Given the description of an element on the screen output the (x, y) to click on. 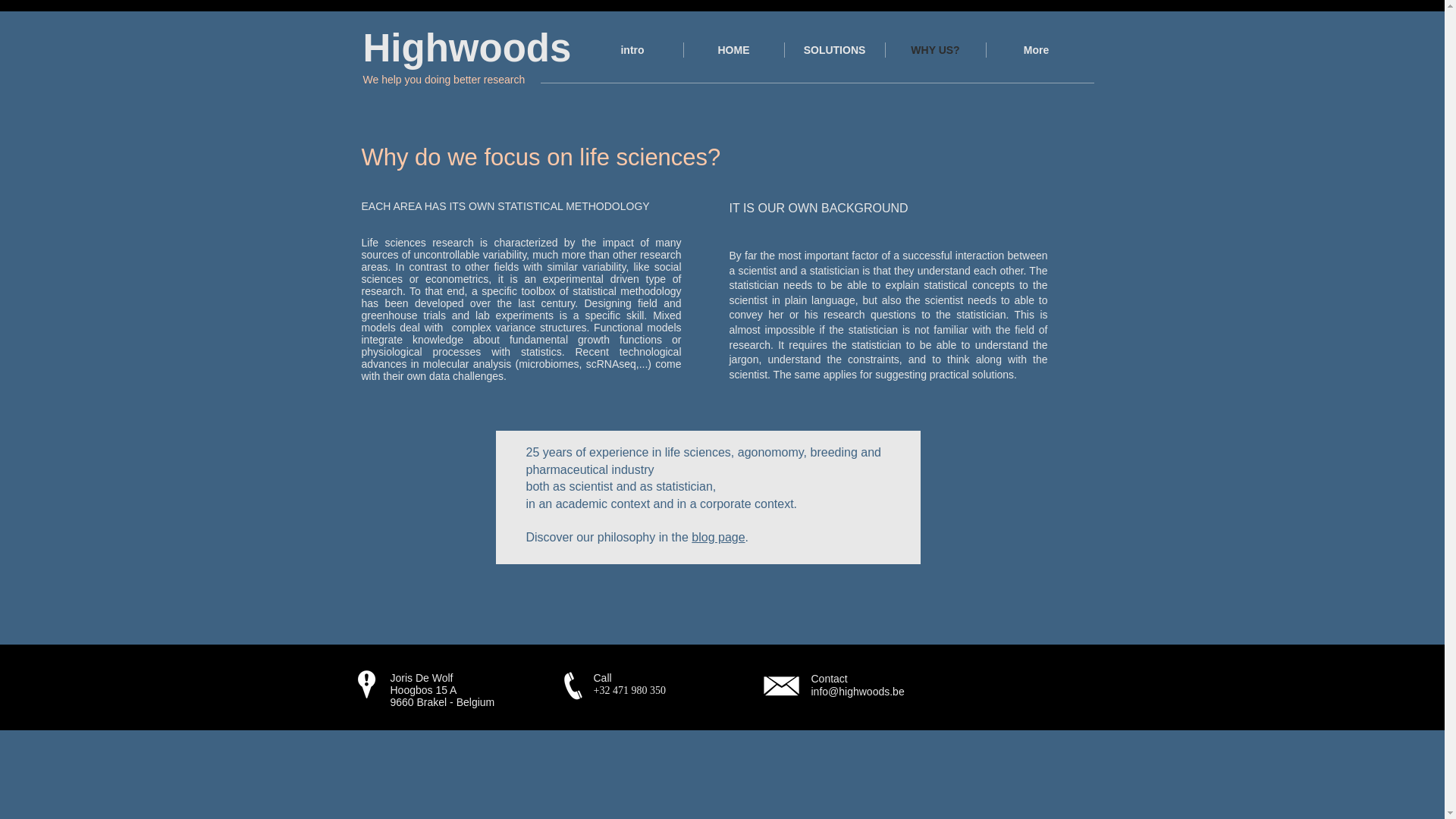
blog page (717, 536)
SOLUTIONS (833, 49)
We help you doing better research (443, 79)
WHY US? (935, 49)
HOME (734, 49)
Highwoods (466, 47)
intro (632, 49)
